Given the description of an element on the screen output the (x, y) to click on. 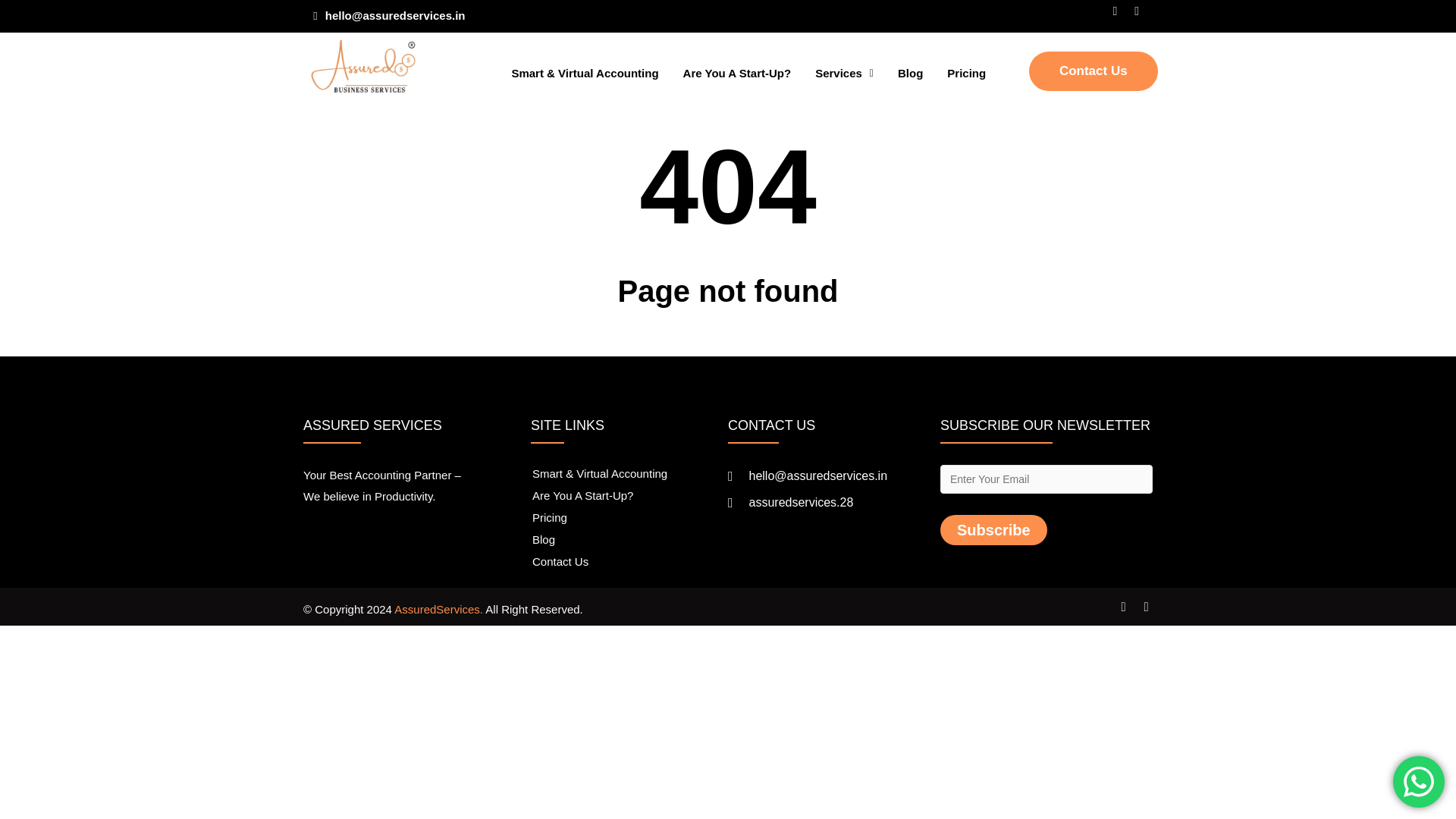
Blog (909, 73)
Subscribe (993, 530)
Are You A Start-Up? (624, 495)
Linkedin-in (1142, 15)
Blog (624, 539)
Are You A Start-Up? (737, 73)
Facebook-f (1119, 15)
Pricing (965, 73)
WhatsApp us (1418, 781)
Services (844, 73)
